Given the description of an element on the screen output the (x, y) to click on. 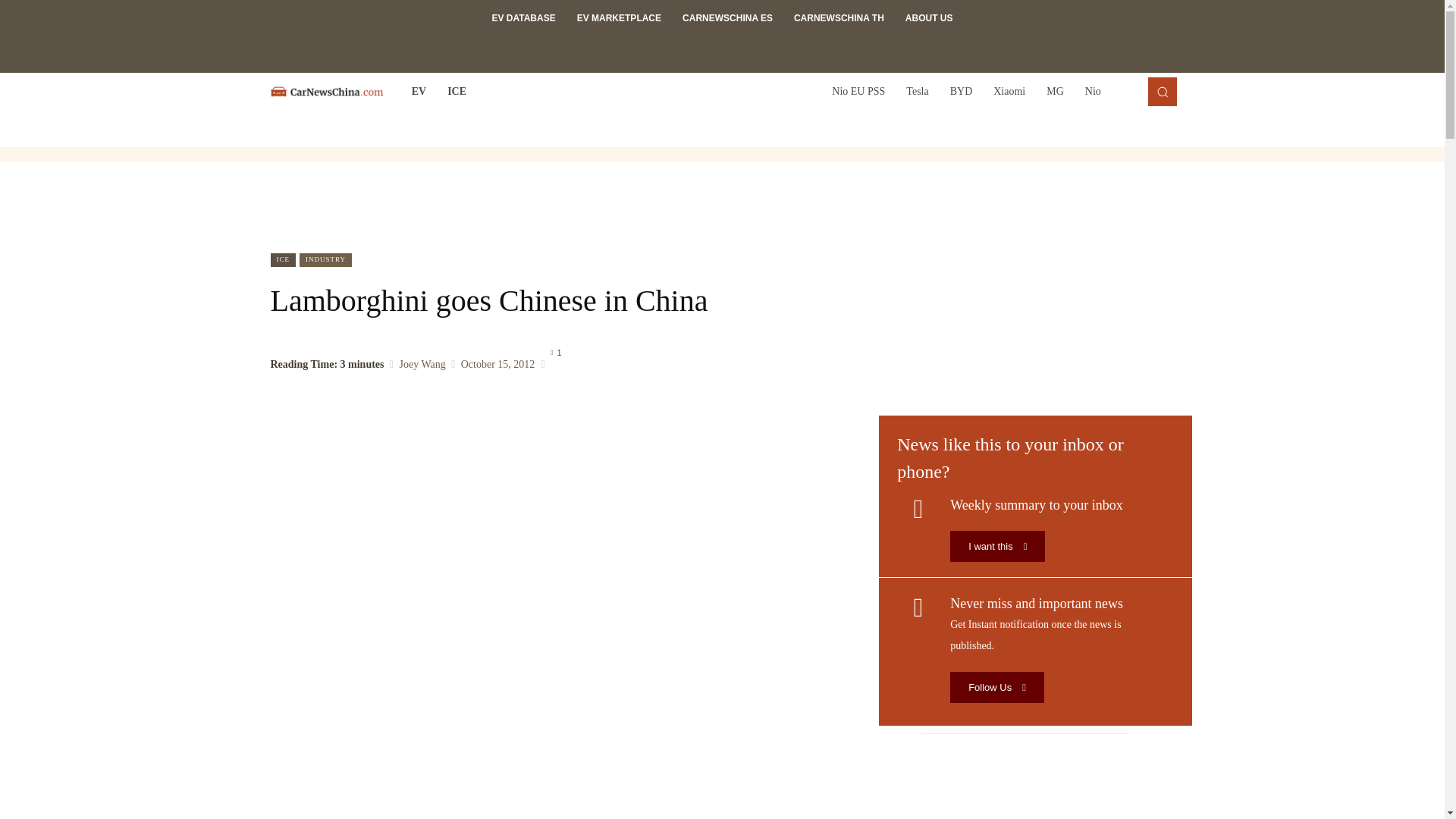
Tesla (917, 91)
Nio EU PSS (858, 91)
ABOUT US (929, 18)
Xiaomi (1008, 91)
EV (418, 91)
EV DATABASE (523, 18)
CARNEWSCHINA ES (727, 18)
ICE (456, 91)
CARNEWSCHINA TH (839, 18)
BYD (961, 91)
